Given the description of an element on the screen output the (x, y) to click on. 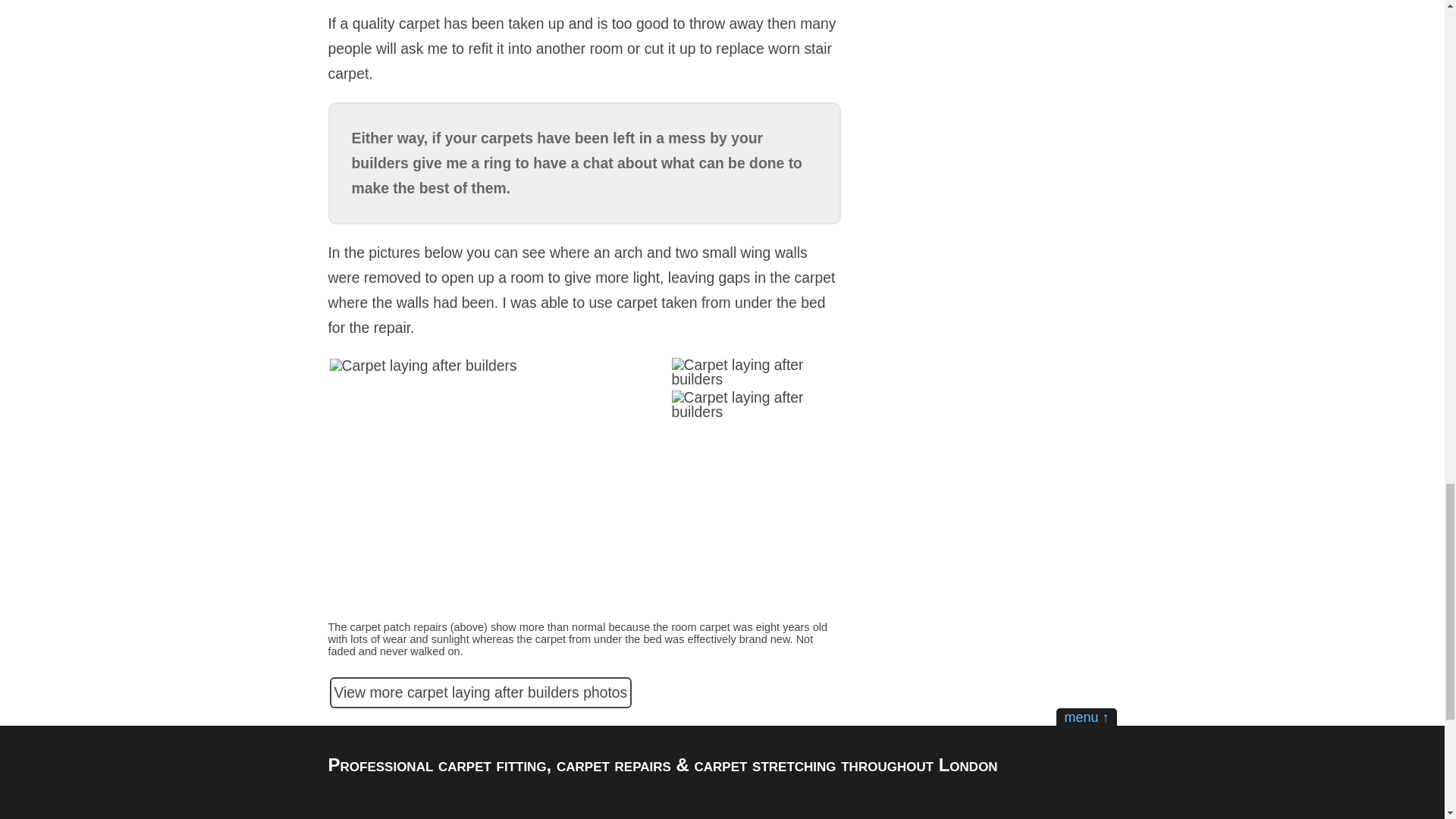
Carpet laying after builders (755, 405)
navigate website (1086, 716)
Carpet laying after builders (422, 365)
Carpet laying after builders (755, 372)
View more carpet laying after builders photos (480, 692)
